Given the description of an element on the screen output the (x, y) to click on. 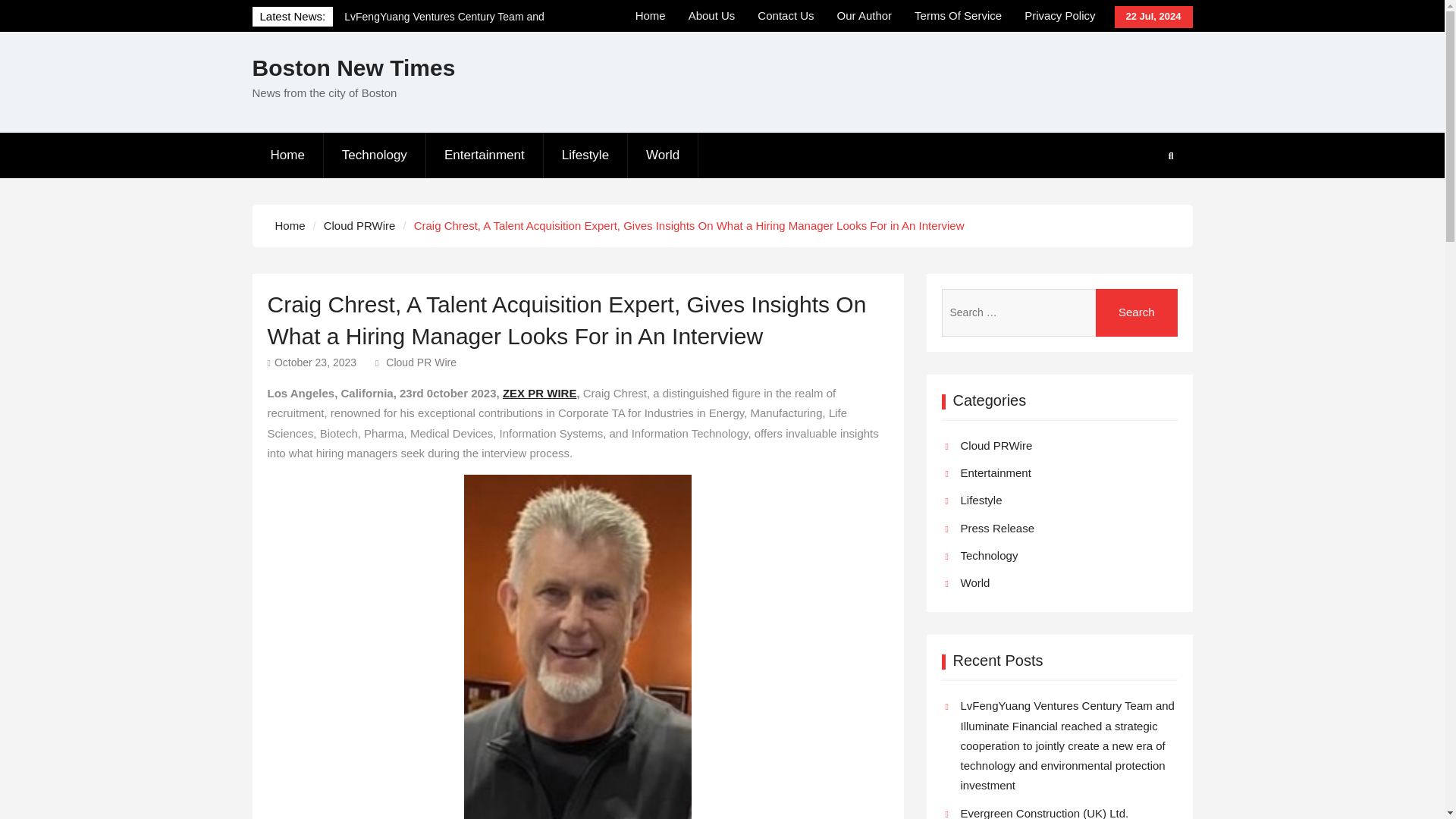
Entertainment (484, 155)
October 23, 2023 (315, 362)
Boston New Times (352, 67)
ZEX PR WIRE (539, 392)
Search (1136, 313)
About Us (711, 15)
Home (287, 155)
Privacy Policy (1059, 15)
Terms Of Service (957, 15)
Home (289, 224)
World (662, 155)
Lifestyle (585, 155)
Cloud PRWire (359, 224)
Cloud PR Wire (421, 362)
